Given the description of an element on the screen output the (x, y) to click on. 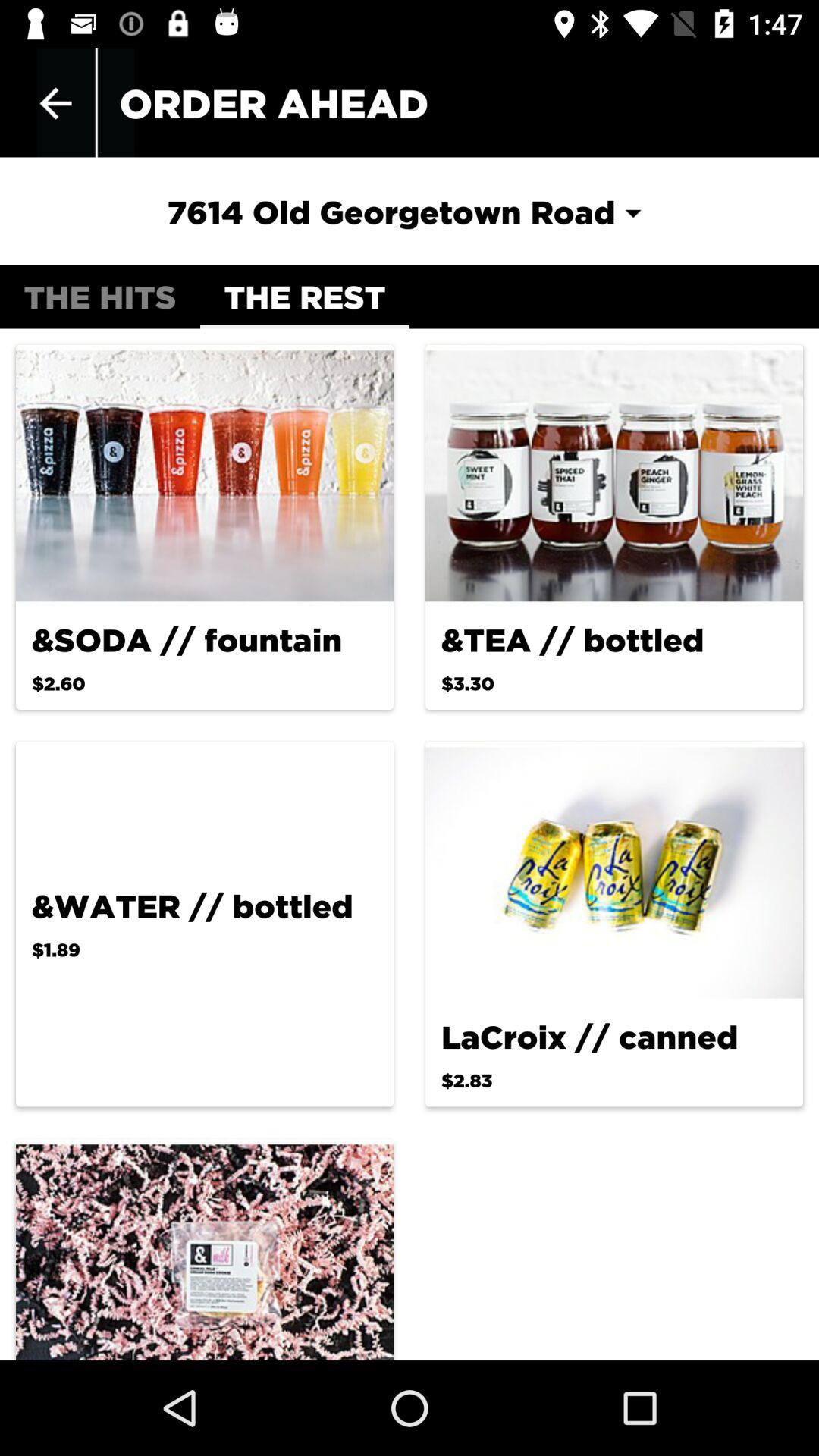
choose 7614 old georgetown icon (409, 212)
